Given the description of an element on the screen output the (x, y) to click on. 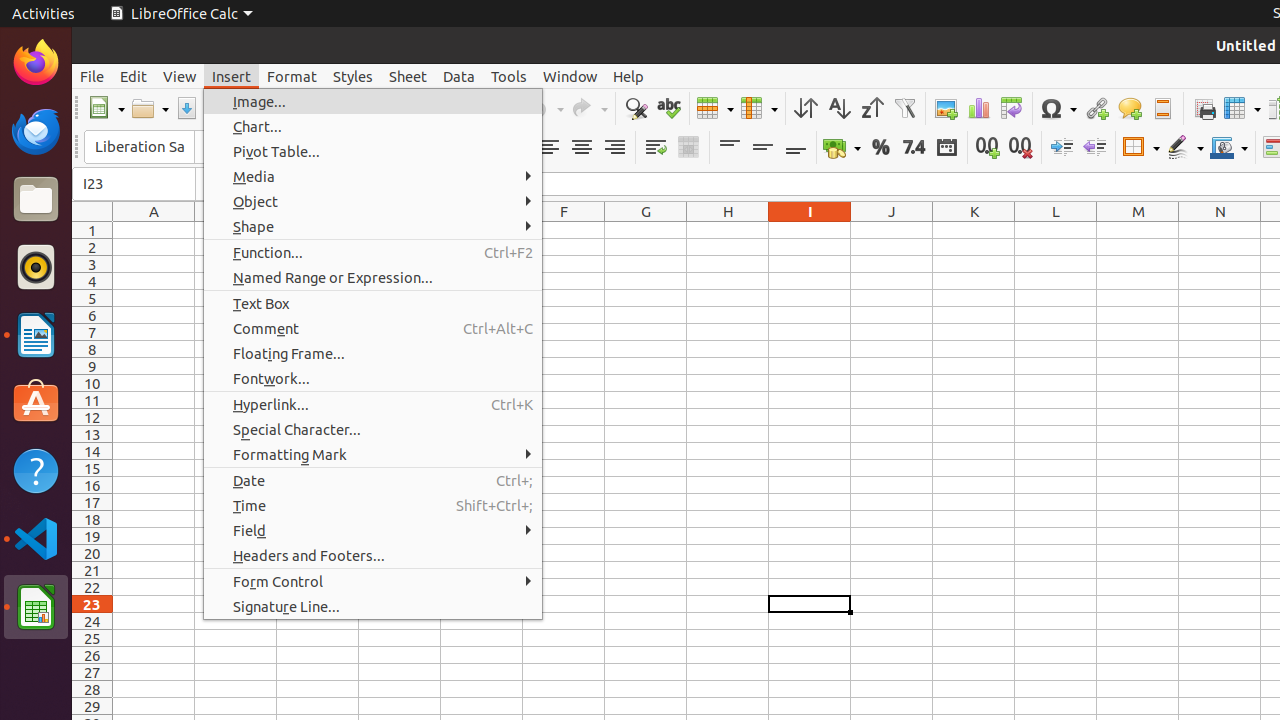
AutoFilter Element type: push-button (904, 108)
Increase Element type: push-button (1061, 147)
Chart... Element type: menu-item (373, 126)
Border Style Element type: push-button (1185, 147)
Special Character... Element type: menu-item (373, 429)
